Given the description of an element on the screen output the (x, y) to click on. 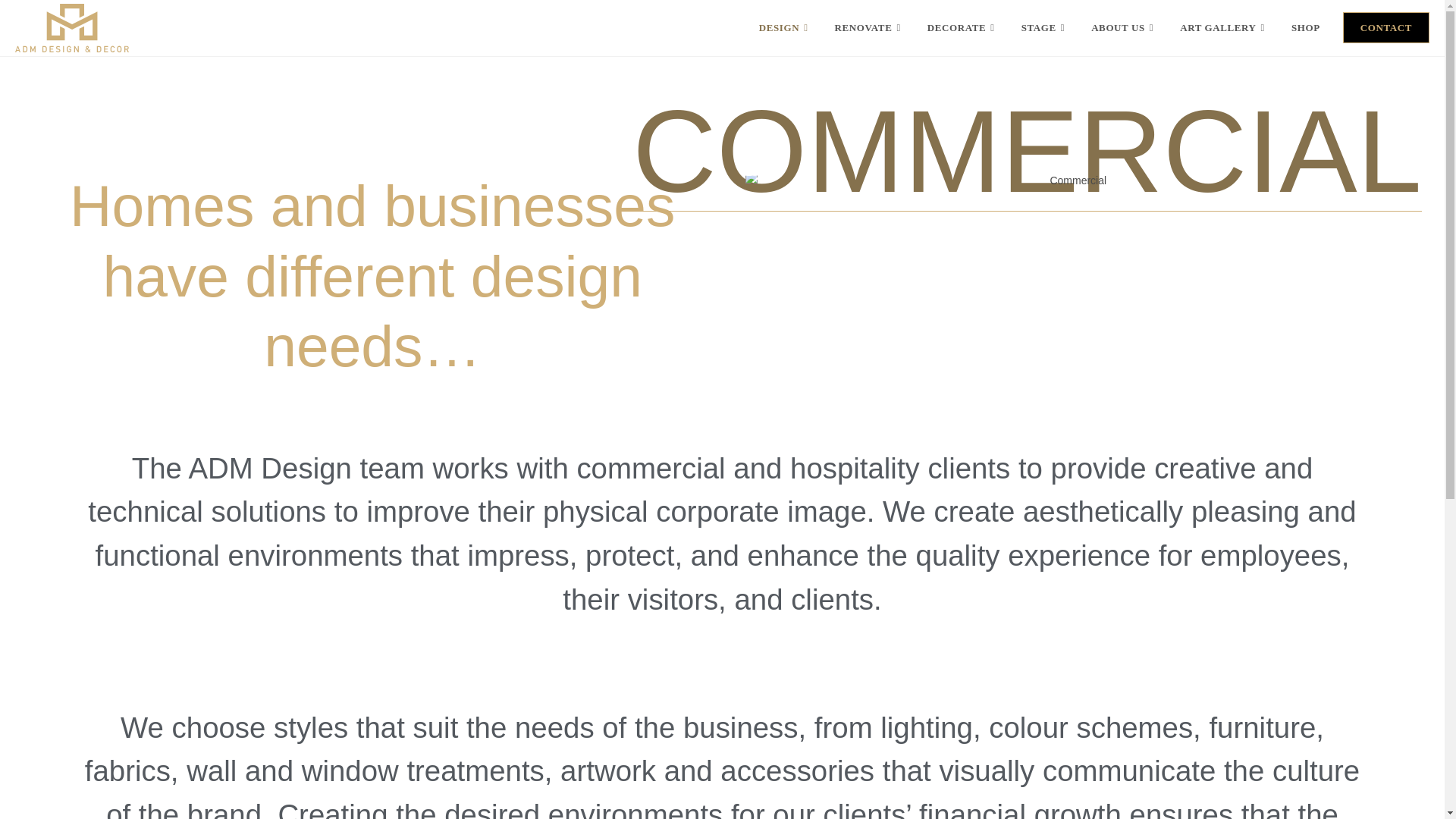
DESIGN (786, 28)
STAGE (1045, 28)
RENOVATE (869, 28)
CONTACT (1386, 28)
SHOP (1305, 28)
ABOUT US (1124, 28)
Commercial (1071, 180)
ART GALLERY (1224, 28)
DECORATE (962, 28)
